Given the description of an element on the screen output the (x, y) to click on. 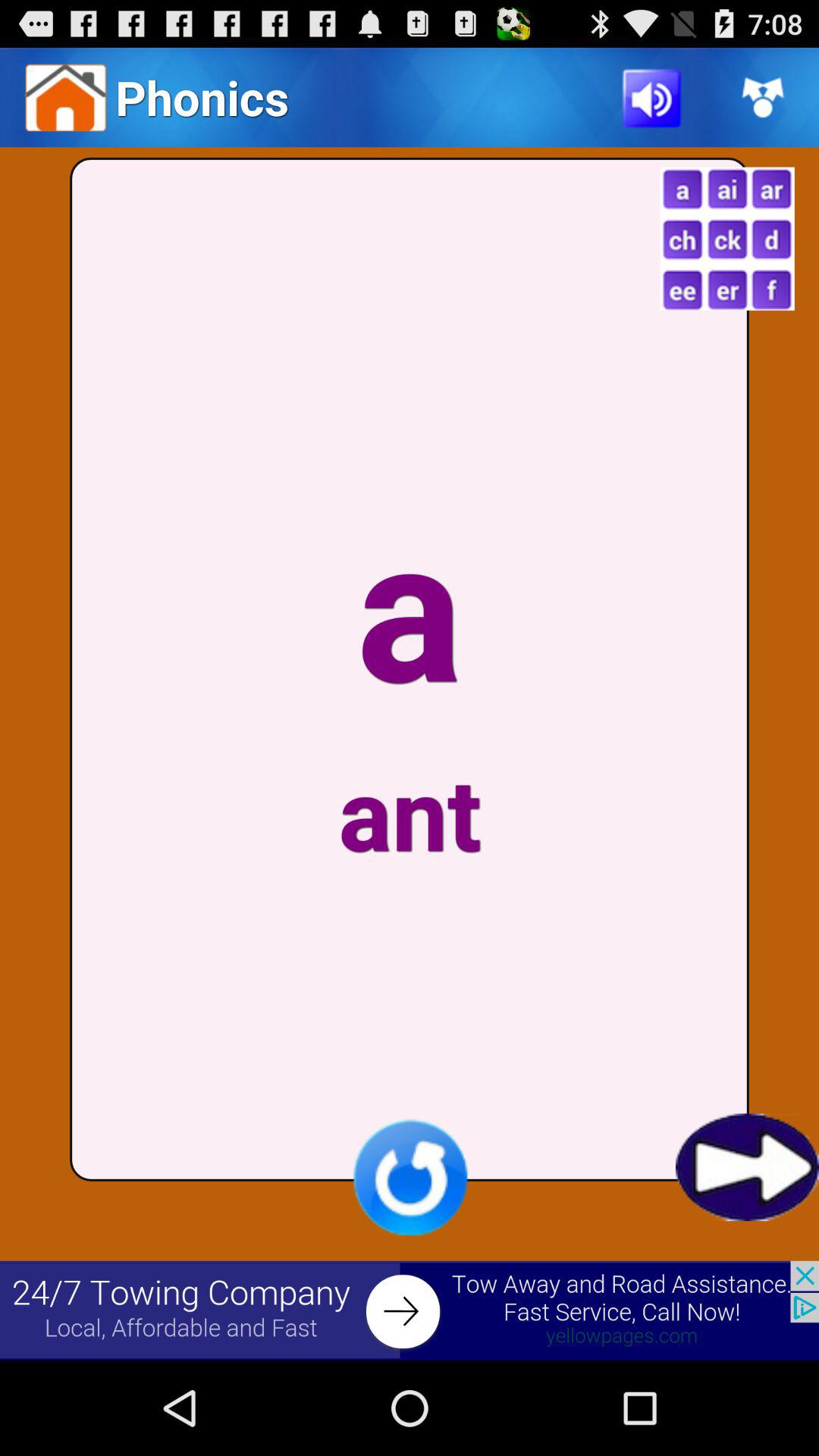
refresh page (409, 1177)
